Given the description of an element on the screen output the (x, y) to click on. 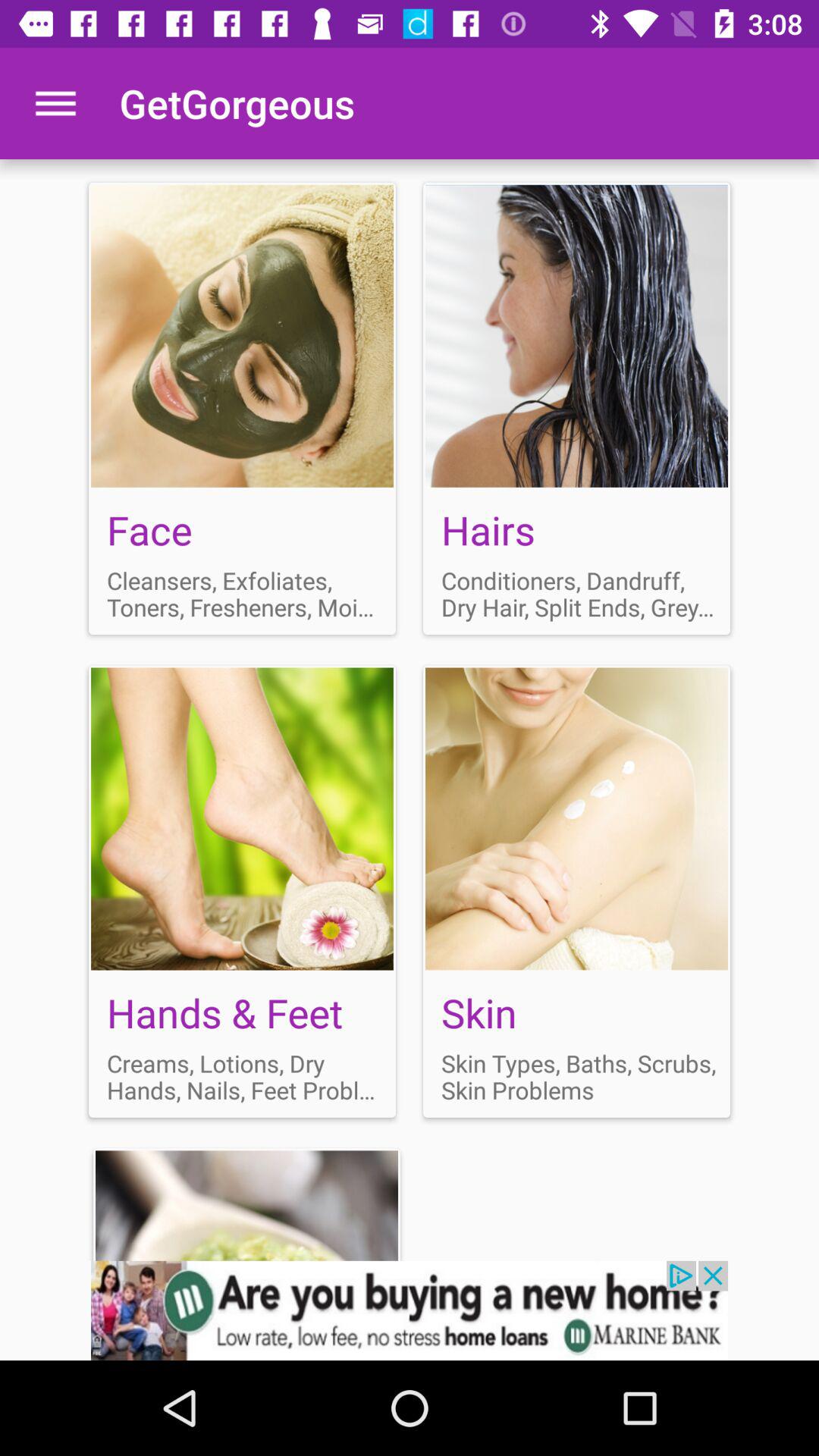
advertisement (409, 1310)
